Given the description of an element on the screen output the (x, y) to click on. 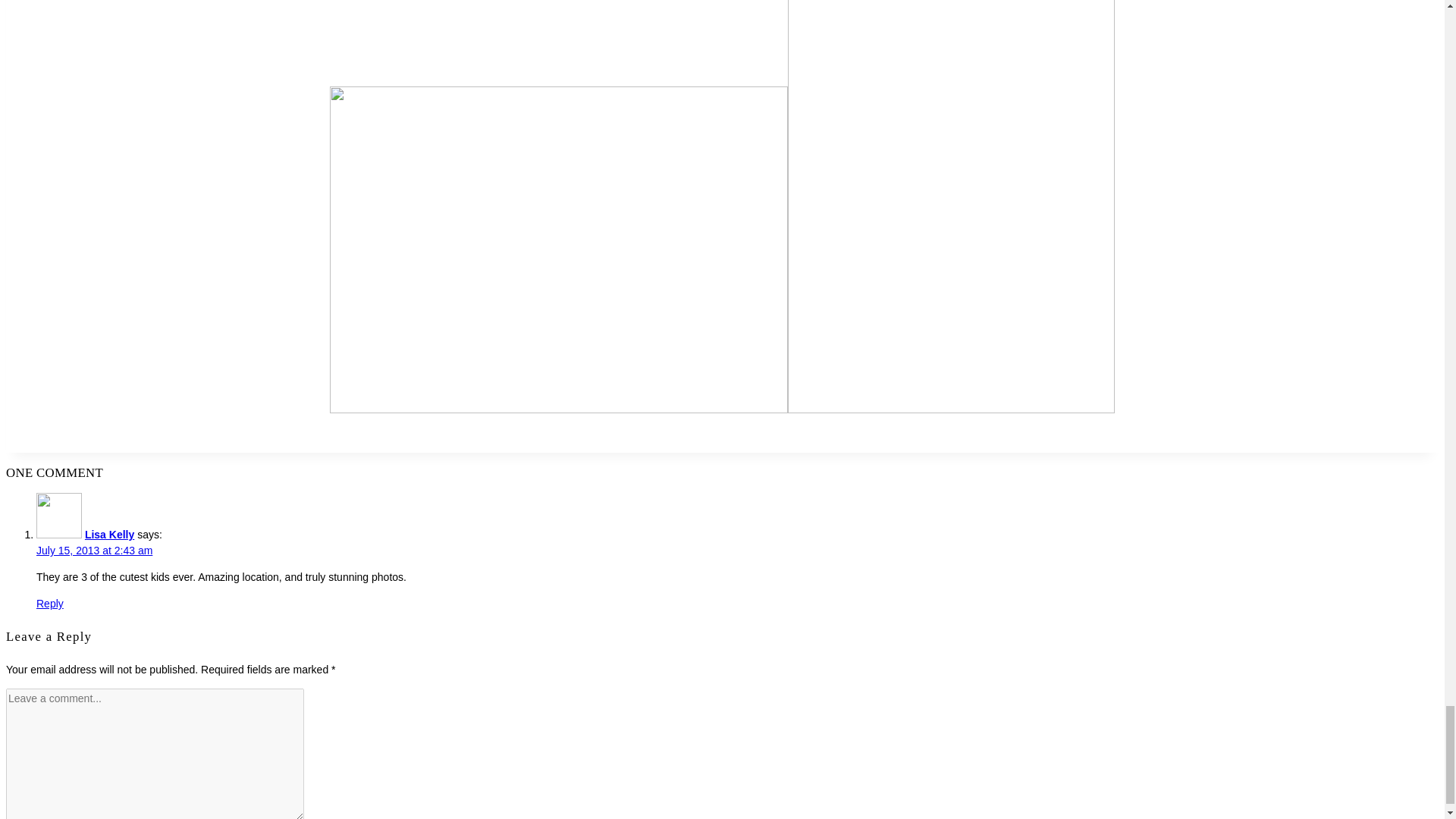
July 15, 2013 at 2:43 am (94, 550)
Reply (50, 603)
Lisa Kelly (108, 534)
